Given the description of an element on the screen output the (x, y) to click on. 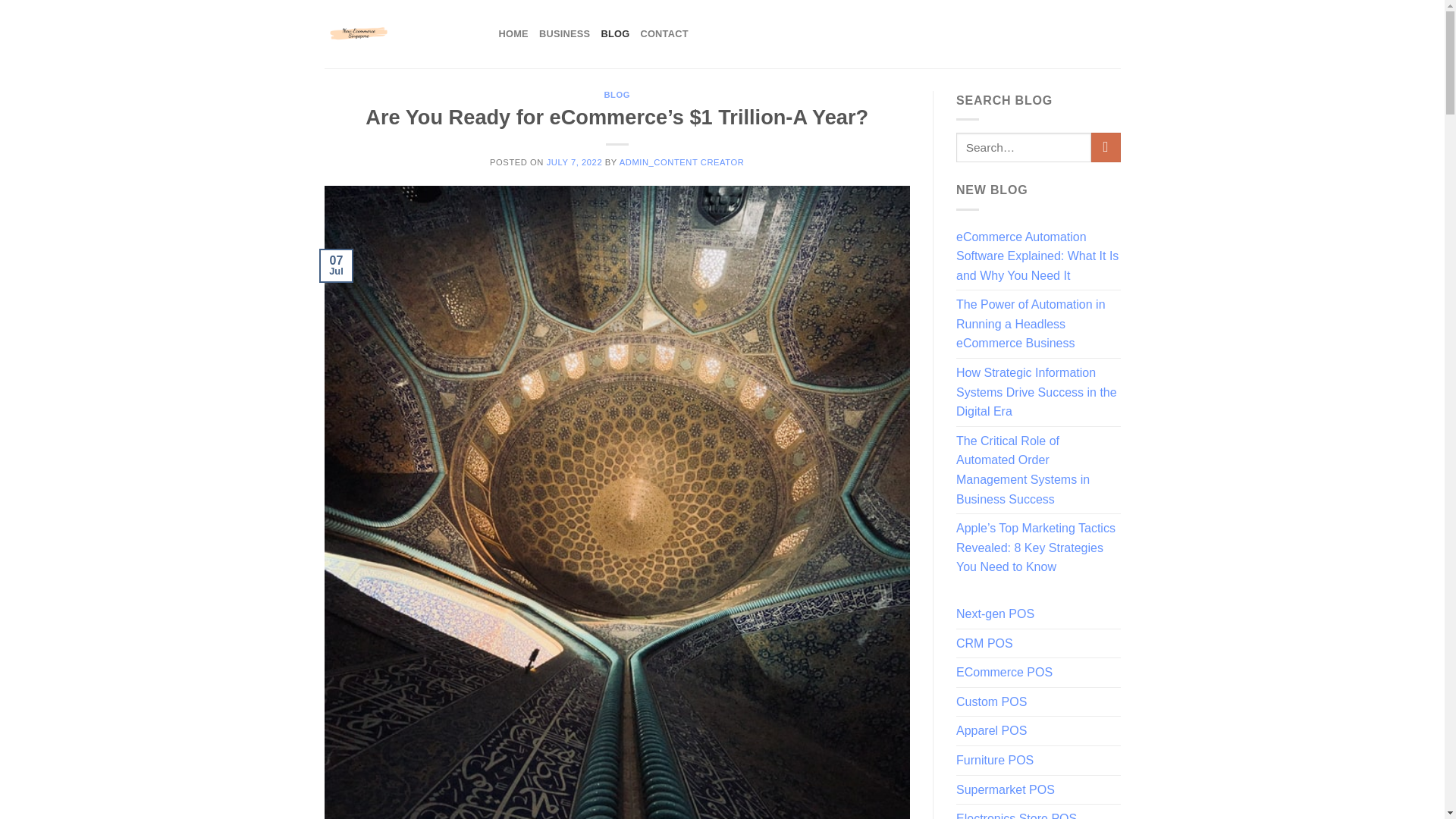
HOME (513, 33)
BLOG (617, 94)
BUSINESS (563, 33)
BLOG (613, 33)
JULY 7, 2022 (574, 162)
New Ecommerce Singapore - E-commerce news site (400, 33)
CONTACT (663, 33)
